Given the description of an element on the screen output the (x, y) to click on. 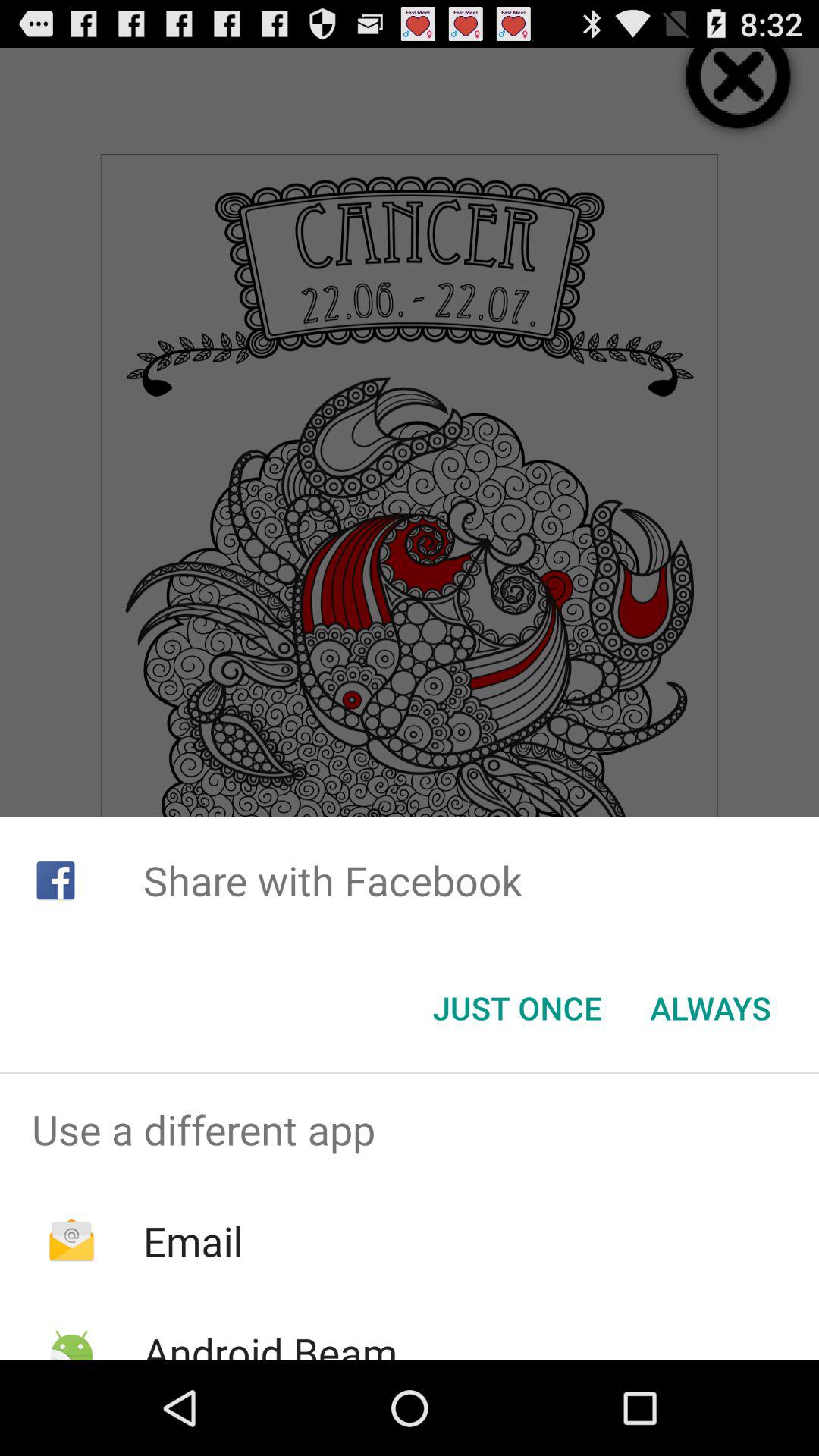
click icon below email item (270, 1342)
